Given the description of an element on the screen output the (x, y) to click on. 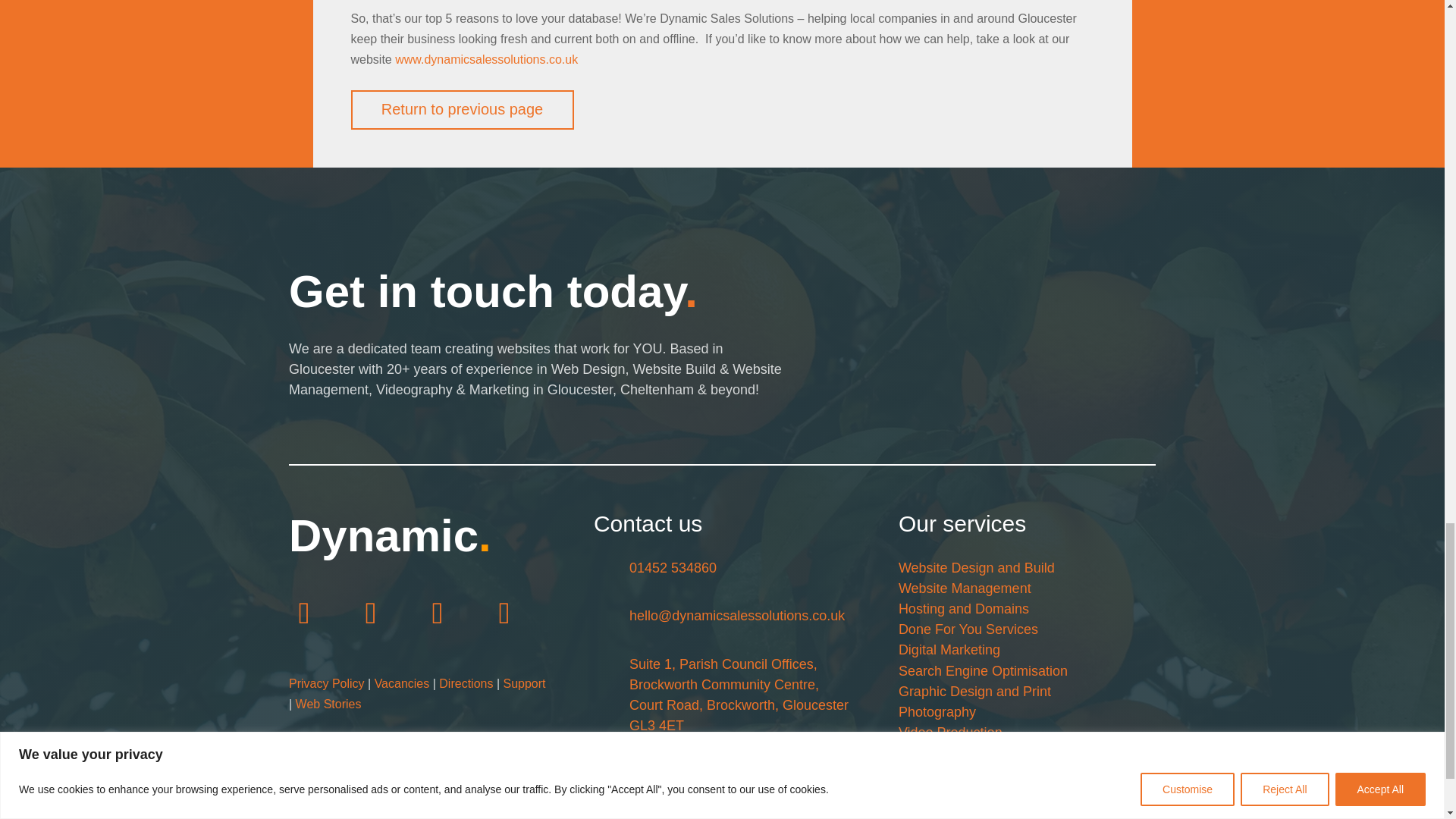
Follow on Instagram (370, 612)
Follow on Facebook (303, 612)
Follow on LinkedIn (437, 612)
Follow on Youtube (504, 612)
